Given the description of an element on the screen output the (x, y) to click on. 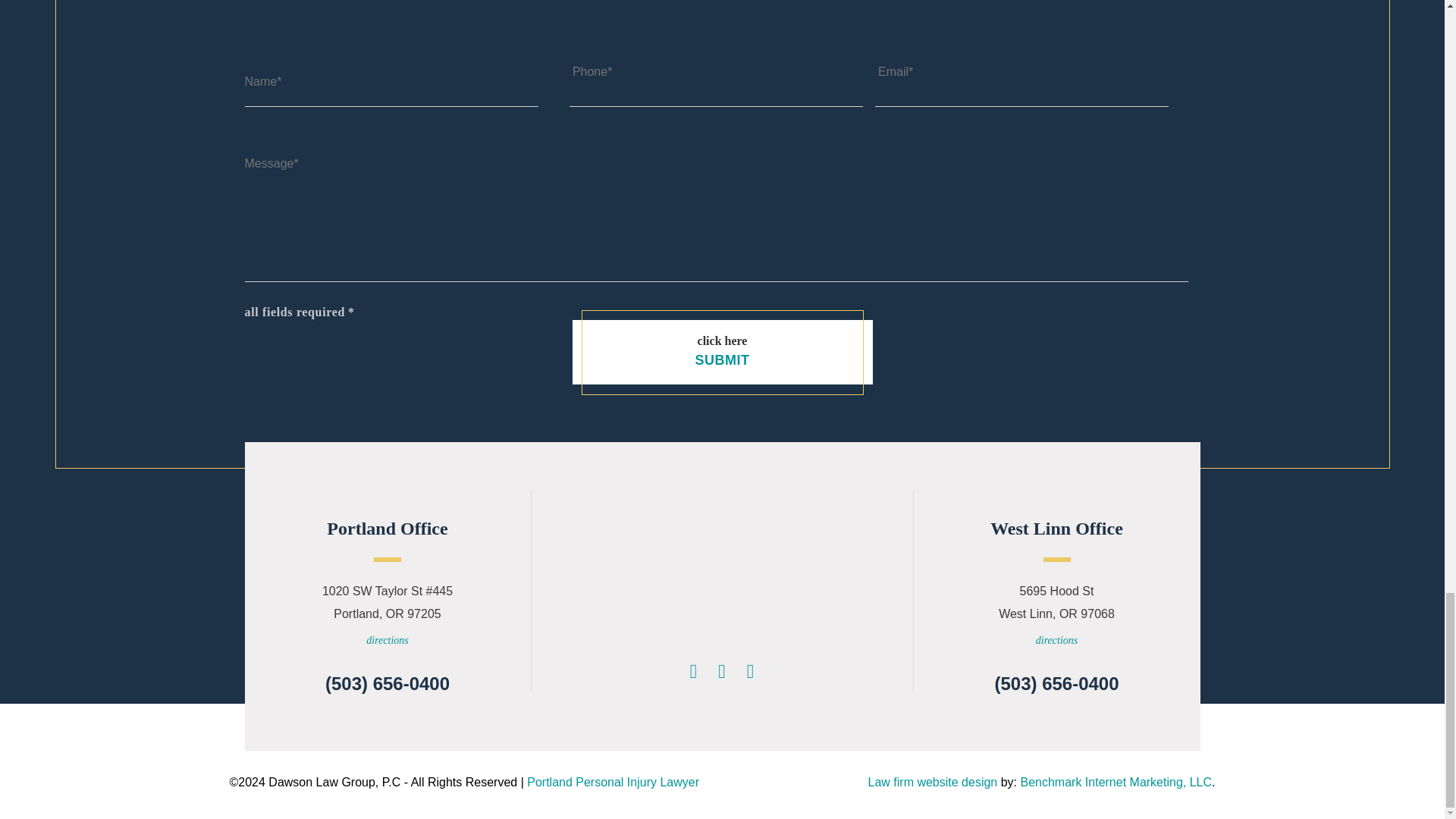
Click here submit (721, 352)
Dawson Law Group (721, 574)
